Given the description of an element on the screen output the (x, y) to click on. 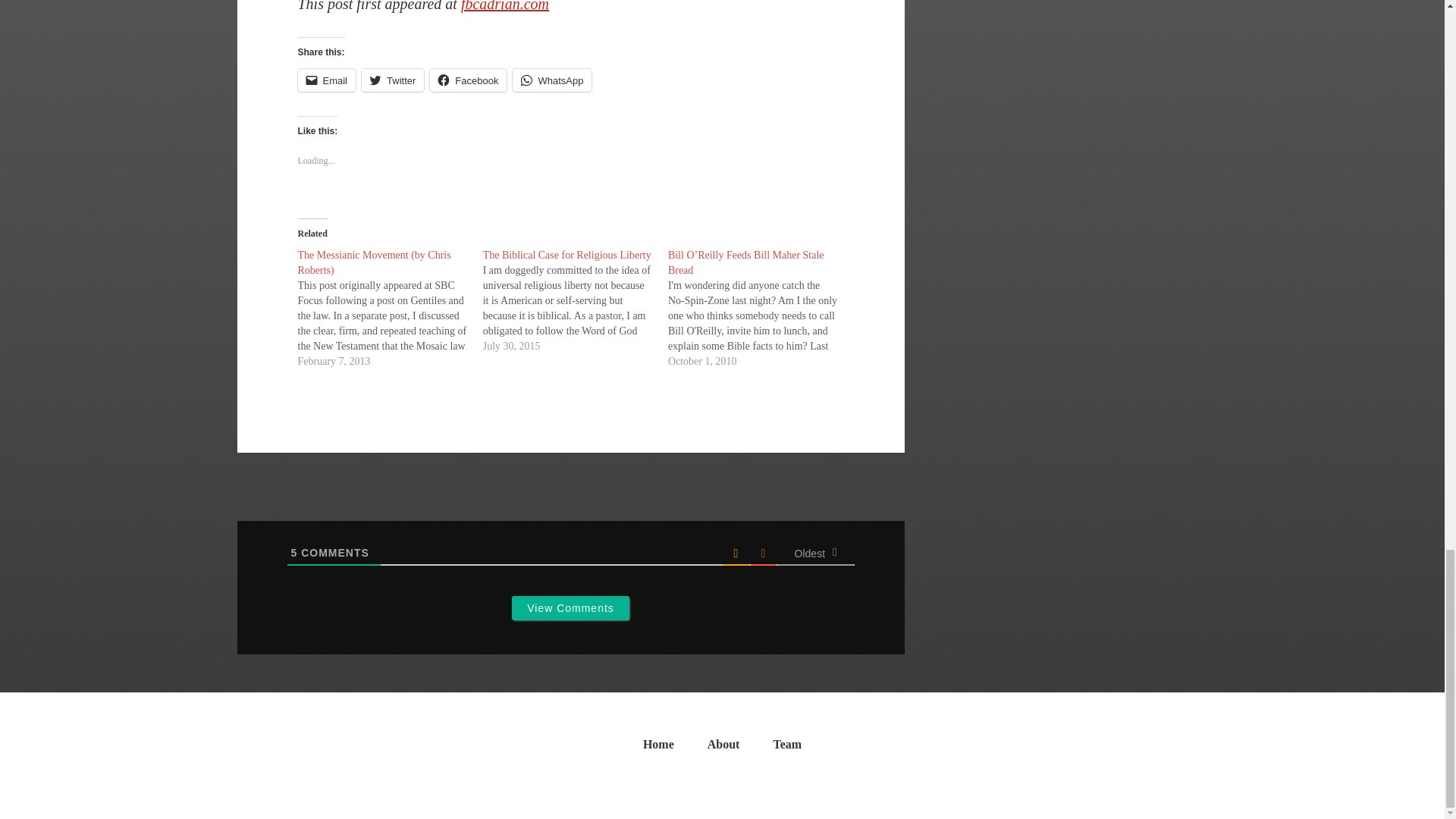
About (724, 748)
Twitter (392, 79)
Home (657, 748)
Click to share on Twitter (392, 79)
The Biblical Case for Religious Liberty (575, 300)
Team (786, 748)
Click to email a link to a friend (326, 79)
Email (326, 79)
The Biblical Case for Religious Liberty (566, 255)
Facebook (467, 79)
